Given the description of an element on the screen output the (x, y) to click on. 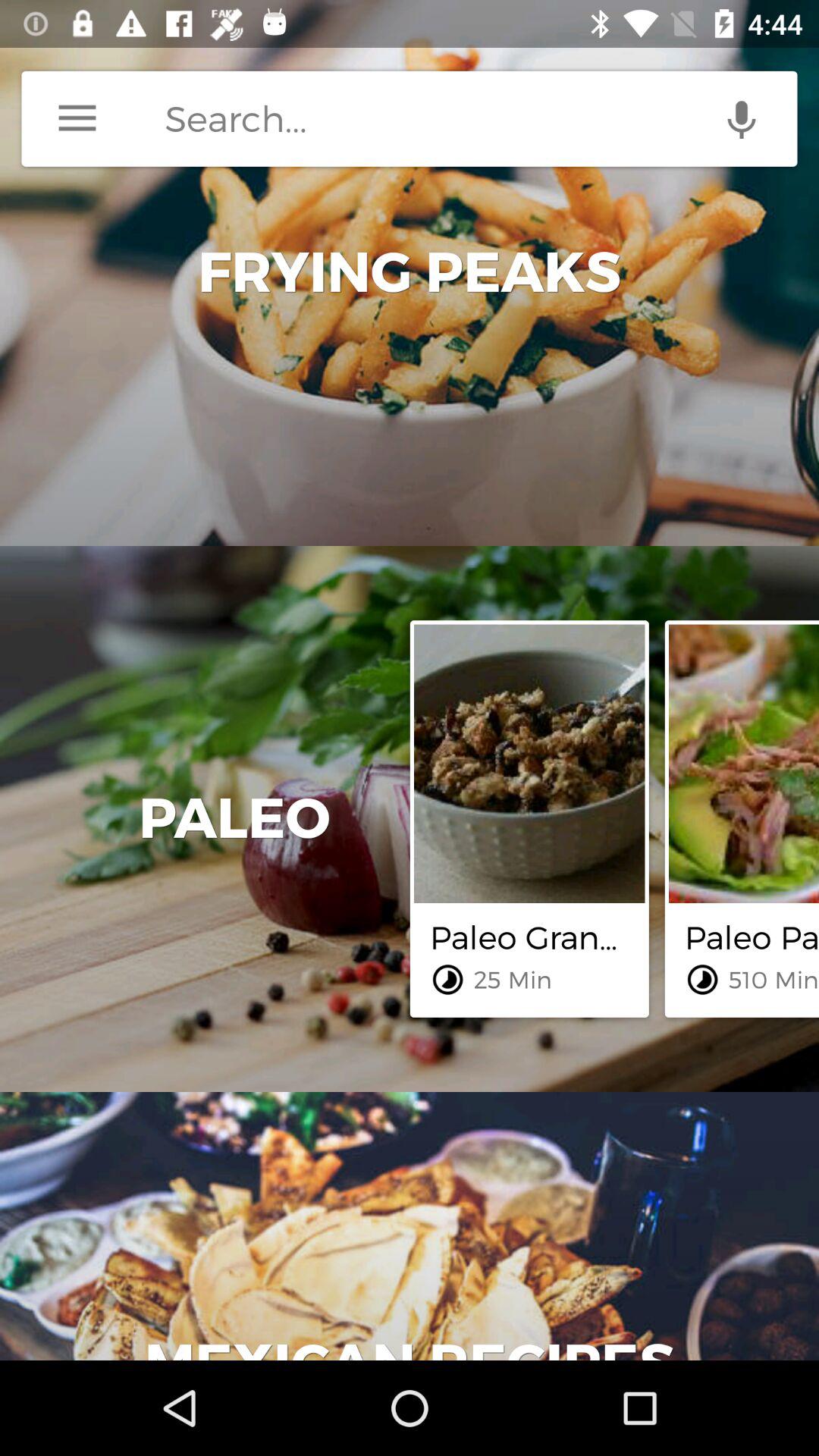
search (480, 118)
